Given the description of an element on the screen output the (x, y) to click on. 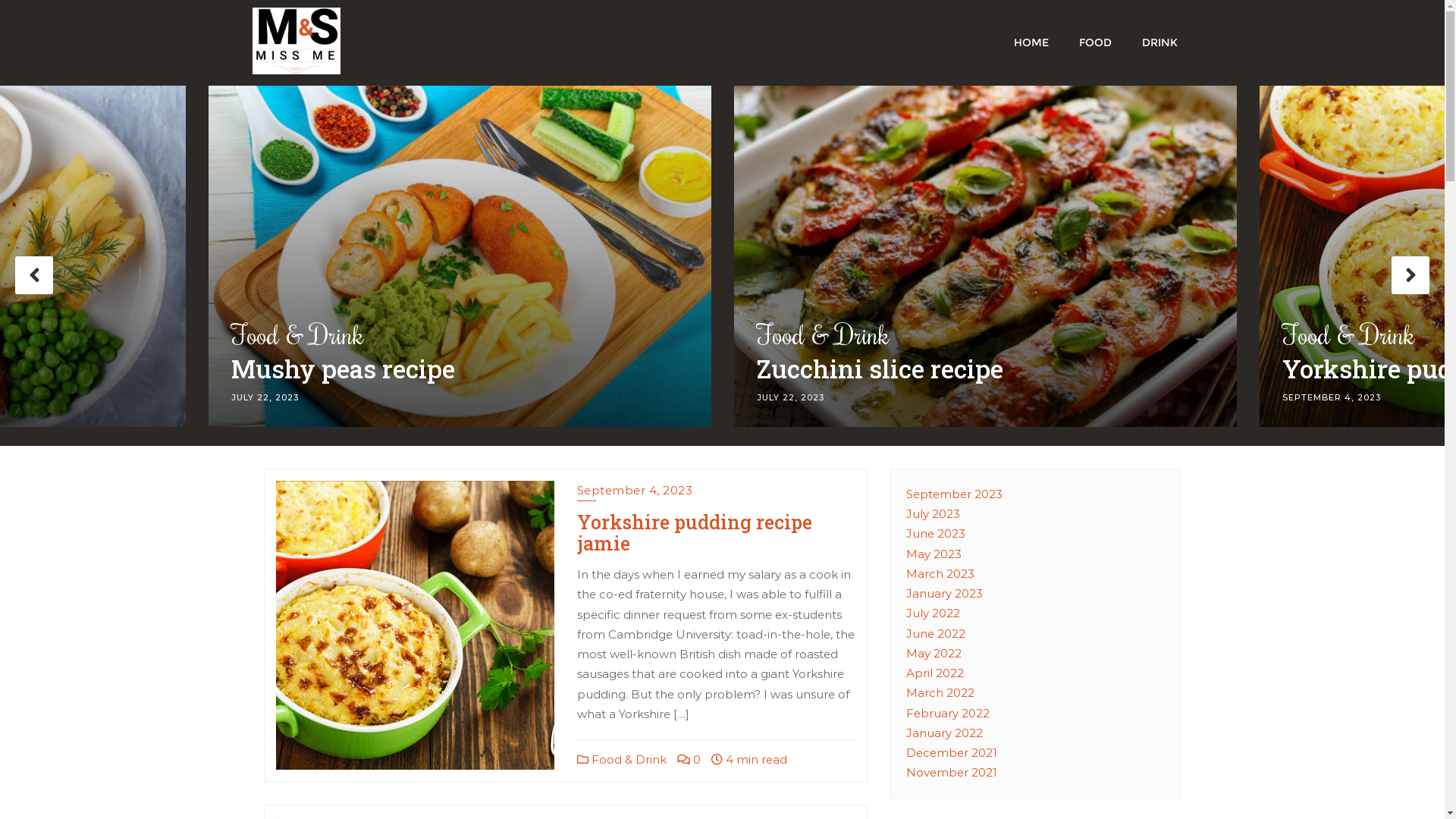
March 2022 Element type: text (940, 692)
January 2022 Element type: text (944, 732)
February 2022 Element type: text (947, 713)
April 2022 Element type: text (934, 672)
July 2023 Element type: text (933, 513)
June 2023 Element type: text (935, 533)
Food & Drink Element type: text (985, 334)
September 2023 Element type: text (954, 493)
Previous Element type: text (34, 275)
July 2022 Element type: text (933, 612)
Mushy peas recipe Element type: text (985, 373)
HOME Element type: text (1030, 41)
March 2023 Element type: text (940, 573)
September 4, 2023 Element type: text (635, 492)
Food & Drink Element type: text (459, 334)
May 2023 Element type: text (933, 553)
Fish batter recipe Element type: text (459, 373)
Next Element type: text (1410, 275)
January 2023 Element type: text (944, 593)
November 2021 Element type: text (951, 772)
June 2022 Element type: text (935, 633)
DRINK Element type: text (1159, 41)
0 Element type: text (688, 759)
Yorkshire pudding recipe jamie Element type: text (694, 532)
FOOD Element type: text (1094, 41)
May 2022 Element type: text (933, 653)
Food & Drink Element type: text (621, 759)
December 2021 Element type: text (951, 752)
